Given the description of an element on the screen output the (x, y) to click on. 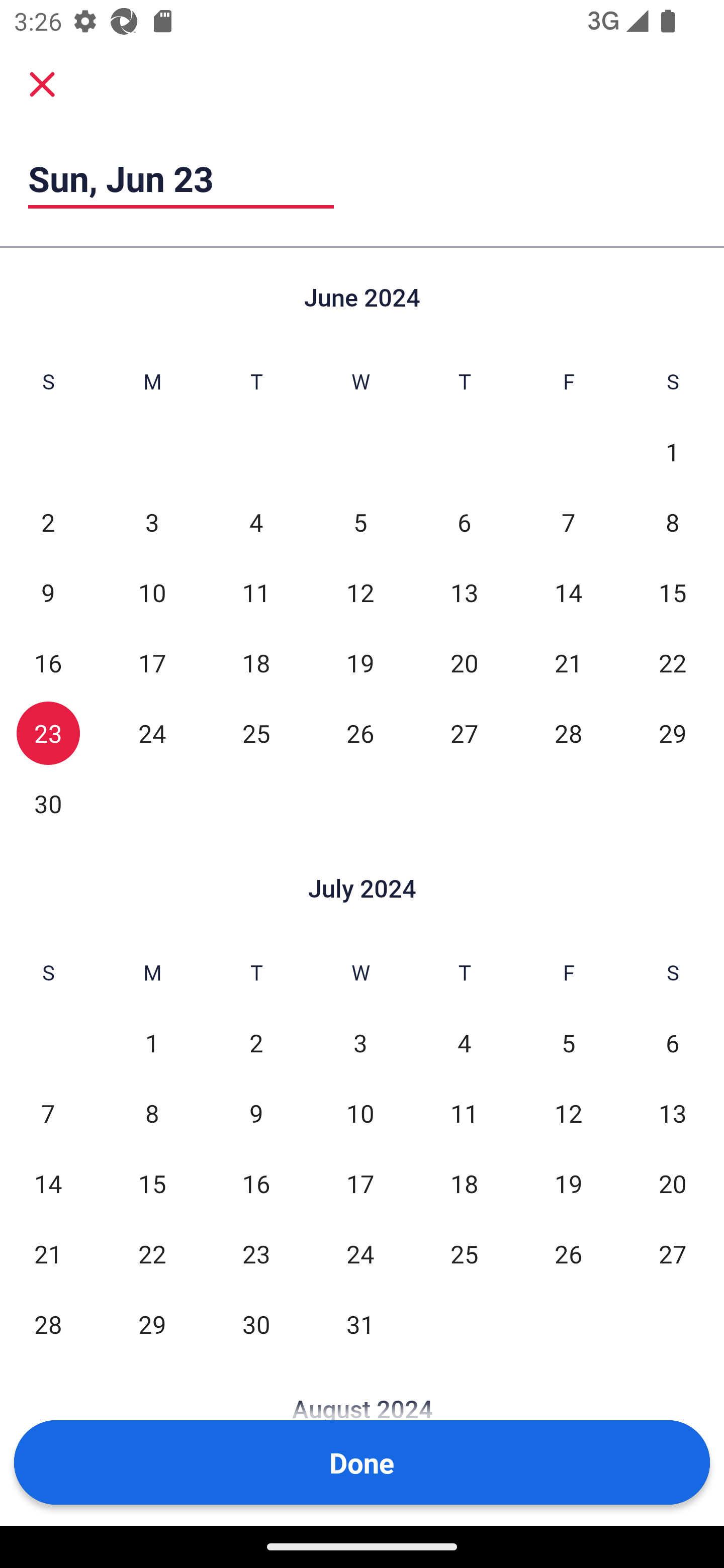
Cancel (41, 83)
Sun, Jun 23 (180, 178)
1 Sat, Jun 1, Not Selected (672, 452)
2 Sun, Jun 2, Not Selected (48, 521)
3 Mon, Jun 3, Not Selected (152, 521)
4 Tue, Jun 4, Not Selected (256, 521)
5 Wed, Jun 5, Not Selected (360, 521)
6 Thu, Jun 6, Not Selected (464, 521)
7 Fri, Jun 7, Not Selected (568, 521)
8 Sat, Jun 8, Not Selected (672, 521)
9 Sun, Jun 9, Not Selected (48, 591)
10 Mon, Jun 10, Not Selected (152, 591)
11 Tue, Jun 11, Not Selected (256, 591)
12 Wed, Jun 12, Not Selected (360, 591)
13 Thu, Jun 13, Not Selected (464, 591)
14 Fri, Jun 14, Not Selected (568, 591)
15 Sat, Jun 15, Not Selected (672, 591)
16 Sun, Jun 16, Not Selected (48, 662)
17 Mon, Jun 17, Not Selected (152, 662)
18 Tue, Jun 18, Not Selected (256, 662)
19 Wed, Jun 19, Not Selected (360, 662)
20 Thu, Jun 20, Not Selected (464, 662)
21 Fri, Jun 21, Not Selected (568, 662)
22 Sat, Jun 22, Not Selected (672, 662)
23 Sun, Jun 23, Selected (48, 732)
24 Mon, Jun 24, Not Selected (152, 732)
25 Tue, Jun 25, Not Selected (256, 732)
26 Wed, Jun 26, Not Selected (360, 732)
27 Thu, Jun 27, Not Selected (464, 732)
28 Fri, Jun 28, Not Selected (568, 732)
29 Sat, Jun 29, Not Selected (672, 732)
30 Sun, Jun 30, Not Selected (48, 803)
1 Mon, Jul 1, Not Selected (152, 1043)
2 Tue, Jul 2, Not Selected (256, 1043)
3 Wed, Jul 3, Not Selected (360, 1043)
4 Thu, Jul 4, Not Selected (464, 1043)
5 Fri, Jul 5, Not Selected (568, 1043)
6 Sat, Jul 6, Not Selected (672, 1043)
7 Sun, Jul 7, Not Selected (48, 1112)
8 Mon, Jul 8, Not Selected (152, 1112)
9 Tue, Jul 9, Not Selected (256, 1112)
10 Wed, Jul 10, Not Selected (360, 1112)
11 Thu, Jul 11, Not Selected (464, 1112)
12 Fri, Jul 12, Not Selected (568, 1112)
13 Sat, Jul 13, Not Selected (672, 1112)
14 Sun, Jul 14, Not Selected (48, 1182)
15 Mon, Jul 15, Not Selected (152, 1182)
16 Tue, Jul 16, Not Selected (256, 1182)
17 Wed, Jul 17, Not Selected (360, 1182)
18 Thu, Jul 18, Not Selected (464, 1182)
19 Fri, Jul 19, Not Selected (568, 1182)
20 Sat, Jul 20, Not Selected (672, 1182)
21 Sun, Jul 21, Not Selected (48, 1253)
22 Mon, Jul 22, Not Selected (152, 1253)
23 Tue, Jul 23, Not Selected (256, 1253)
24 Wed, Jul 24, Not Selected (360, 1253)
25 Thu, Jul 25, Not Selected (464, 1253)
26 Fri, Jul 26, Not Selected (568, 1253)
27 Sat, Jul 27, Not Selected (672, 1253)
28 Sun, Jul 28, Not Selected (48, 1323)
29 Mon, Jul 29, Not Selected (152, 1323)
30 Tue, Jul 30, Not Selected (256, 1323)
31 Wed, Jul 31, Not Selected (360, 1323)
Done Button Done (361, 1462)
